Given the description of an element on the screen output the (x, y) to click on. 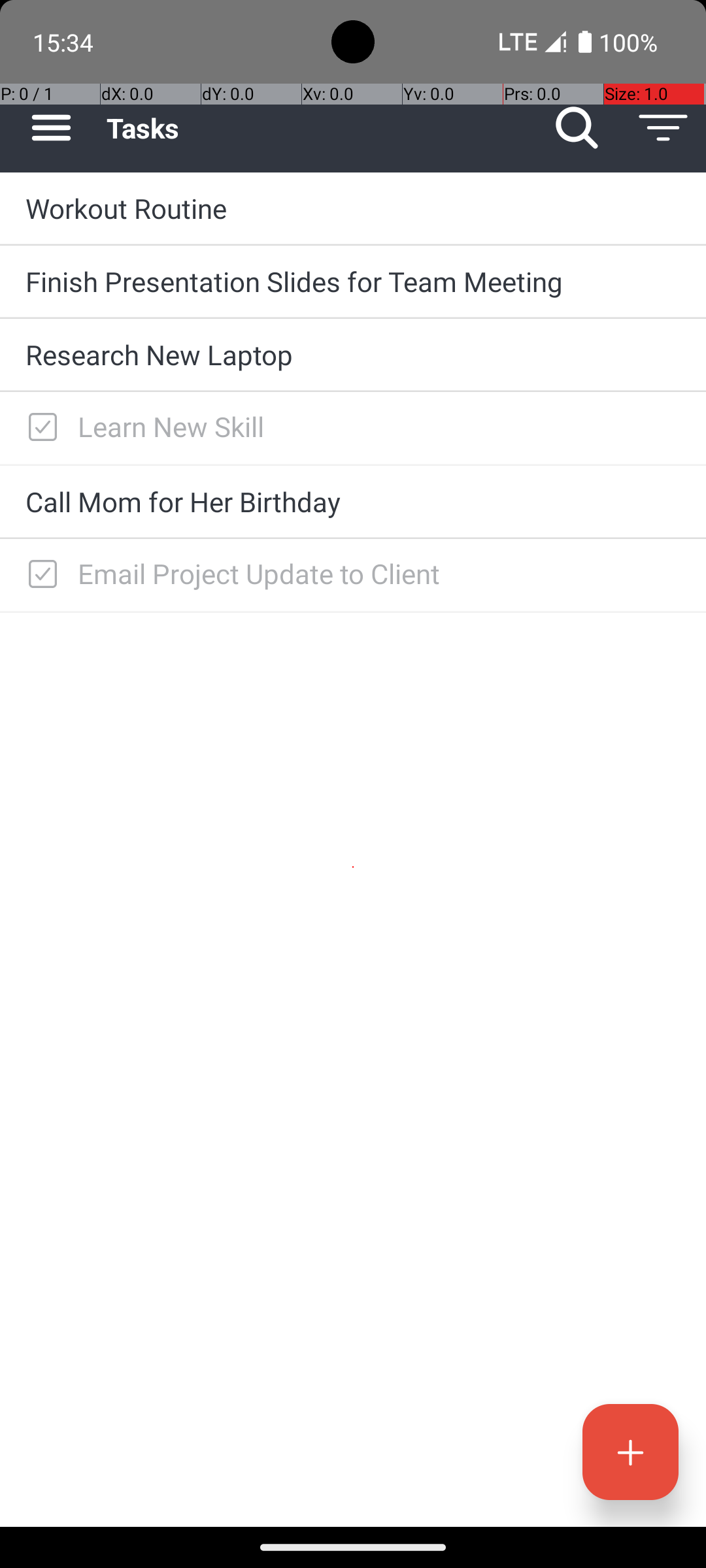
Workout Routine Element type: android.widget.TextView (352, 207)
Finish Presentation Slides for Team Meeting Element type: android.widget.TextView (352, 280)
Research New Laptop Element type: android.widget.TextView (352, 354)
to-do: Learn New Skill Element type: android.widget.CheckBox (38, 427)
Learn New Skill Element type: android.widget.TextView (378, 425)
Call Mom for Her Birthday Element type: android.widget.TextView (352, 501)
to-do: Email Project Update to Client Element type: android.widget.CheckBox (38, 574)
Email Project Update to Client Element type: android.widget.TextView (378, 572)
